Given the description of an element on the screen output the (x, y) to click on. 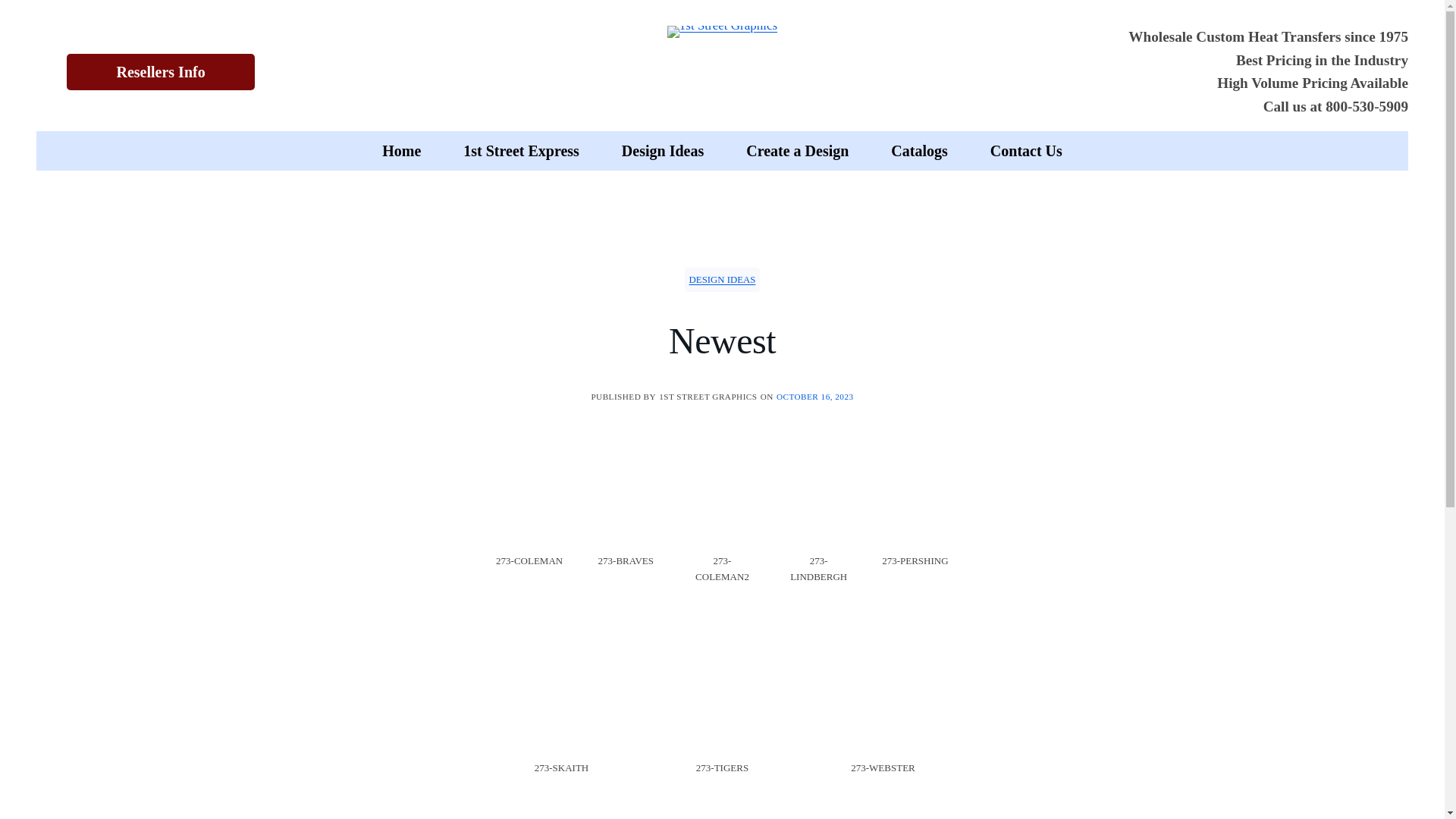
Contact Us Element type: text (1026, 150)
Create a Design Element type: text (797, 150)
Home Element type: text (401, 150)
DESIGN IDEAS Element type: text (722, 279)
1st Street Express Element type: text (521, 150)
Resellers Info Element type: text (160, 71)
Catalogs Element type: text (918, 150)
OCTOBER 16, 2023 Element type: text (814, 396)
Design Ideas Element type: text (662, 150)
